Given the description of an element on the screen output the (x, y) to click on. 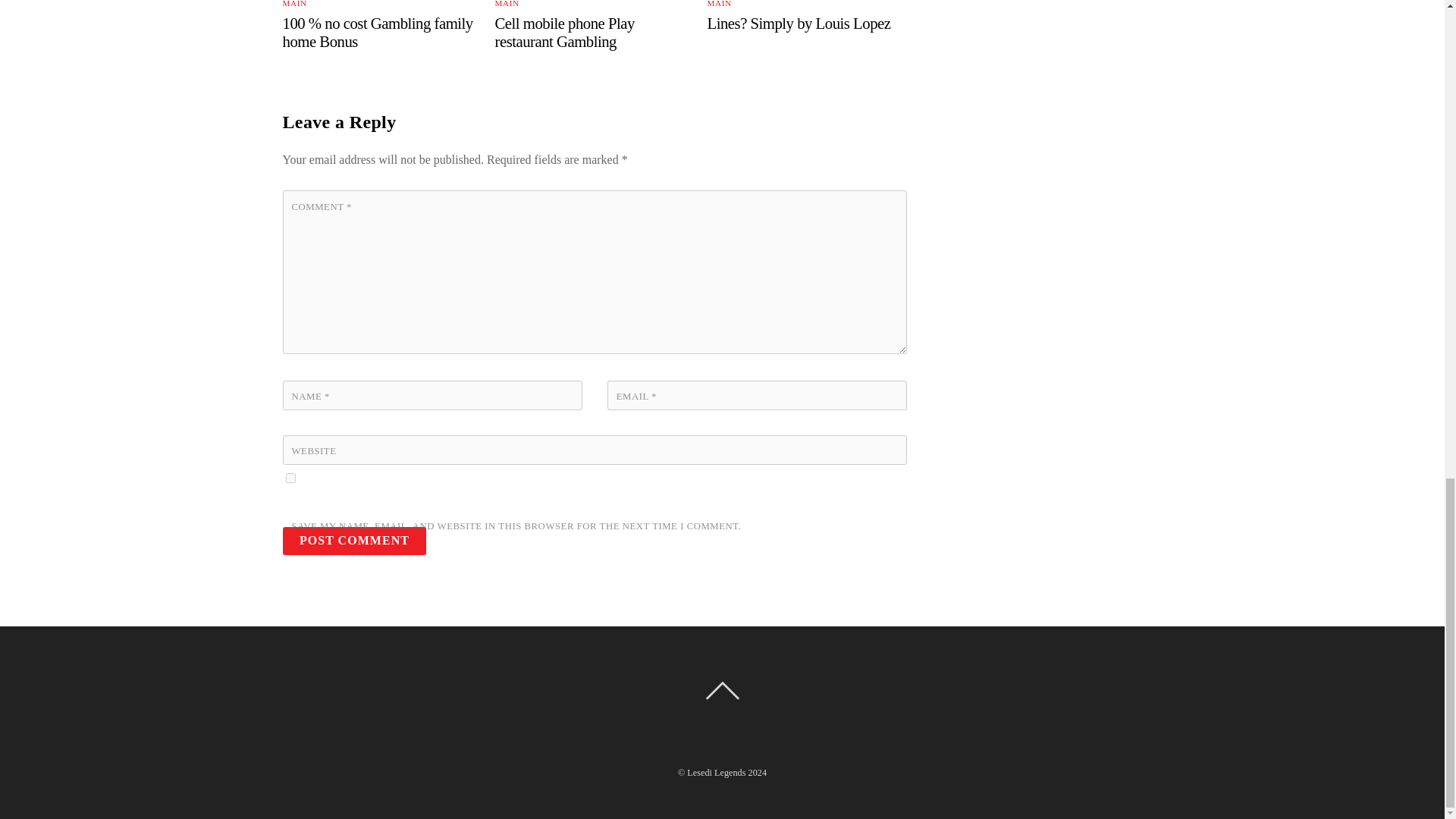
Lines? Simply by Louis Lopez (799, 22)
Cell mobile phone Play restaurant Gambling (564, 31)
MAIN (719, 3)
MAIN (507, 3)
Post Comment (354, 541)
Cell mobile phone Play restaurant Gambling (564, 31)
MAIN (293, 3)
Post Comment (354, 541)
Lines? Simply by Louis Lopez (799, 22)
Lesedi Legends (716, 772)
